Given the description of an element on the screen output the (x, y) to click on. 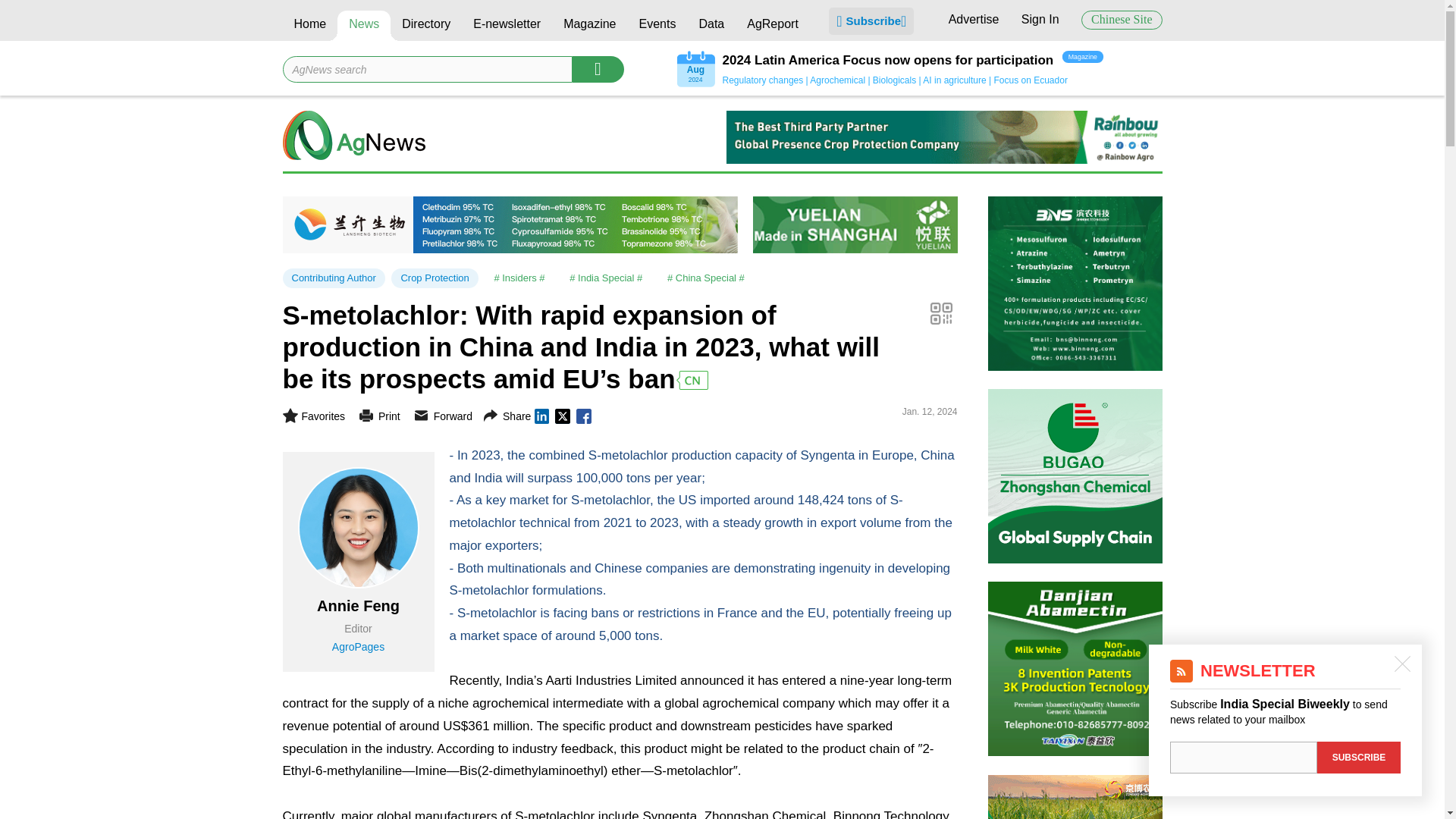
Home (309, 25)
News (363, 25)
AgReport (772, 25)
Magazine (589, 25)
2024 Latin America Focus now opens for participation (887, 60)
Chinese Site (1121, 19)
Data (711, 25)
E-newsletter (506, 25)
SUBSCRIBE (1358, 757)
Advertise (973, 19)
